Given the description of an element on the screen output the (x, y) to click on. 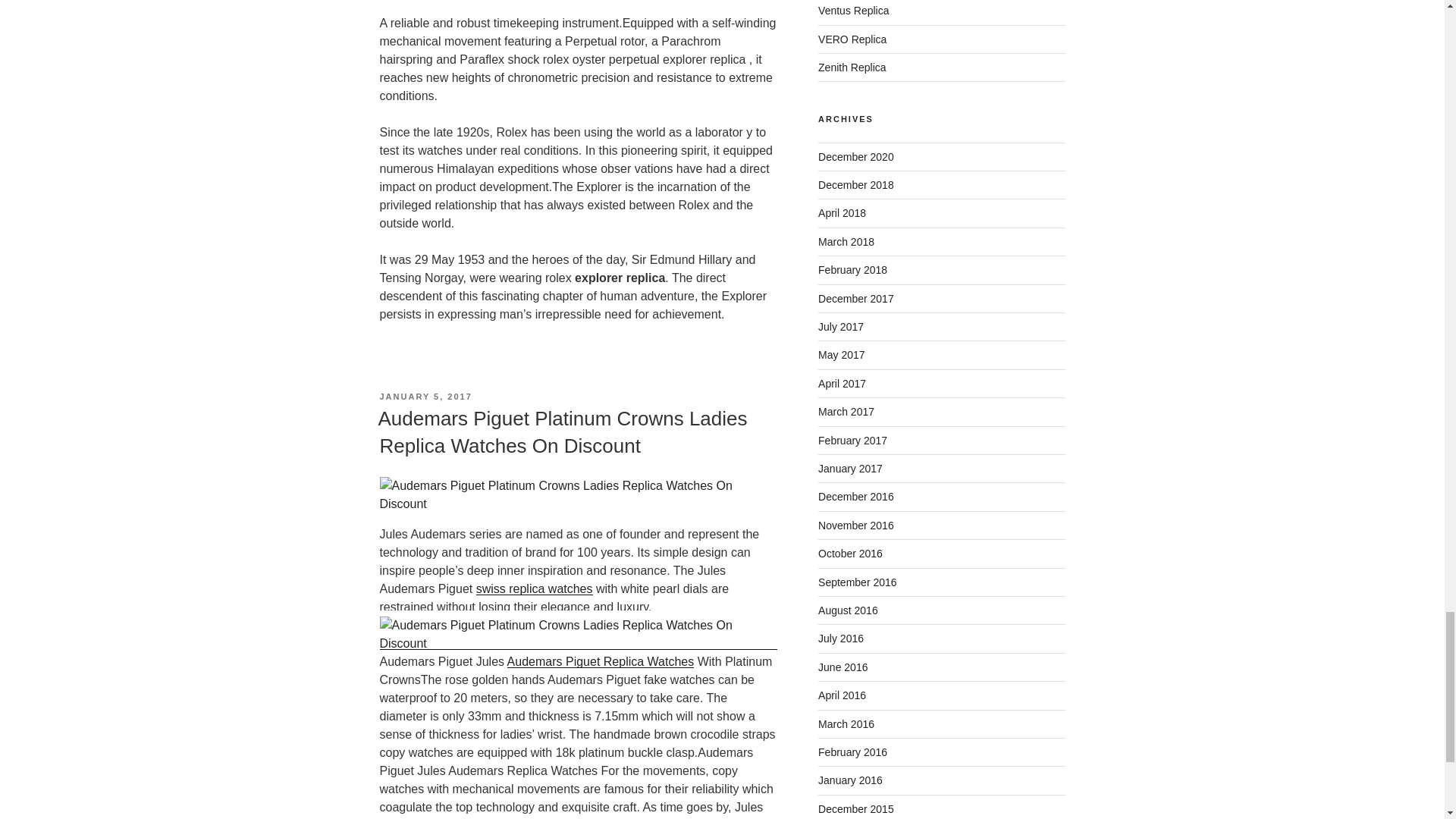
swiss replica watches (534, 588)
JANUARY 5, 2017 (424, 396)
Audemars Piguet Replica Watches (600, 661)
